Given the description of an element on the screen output the (x, y) to click on. 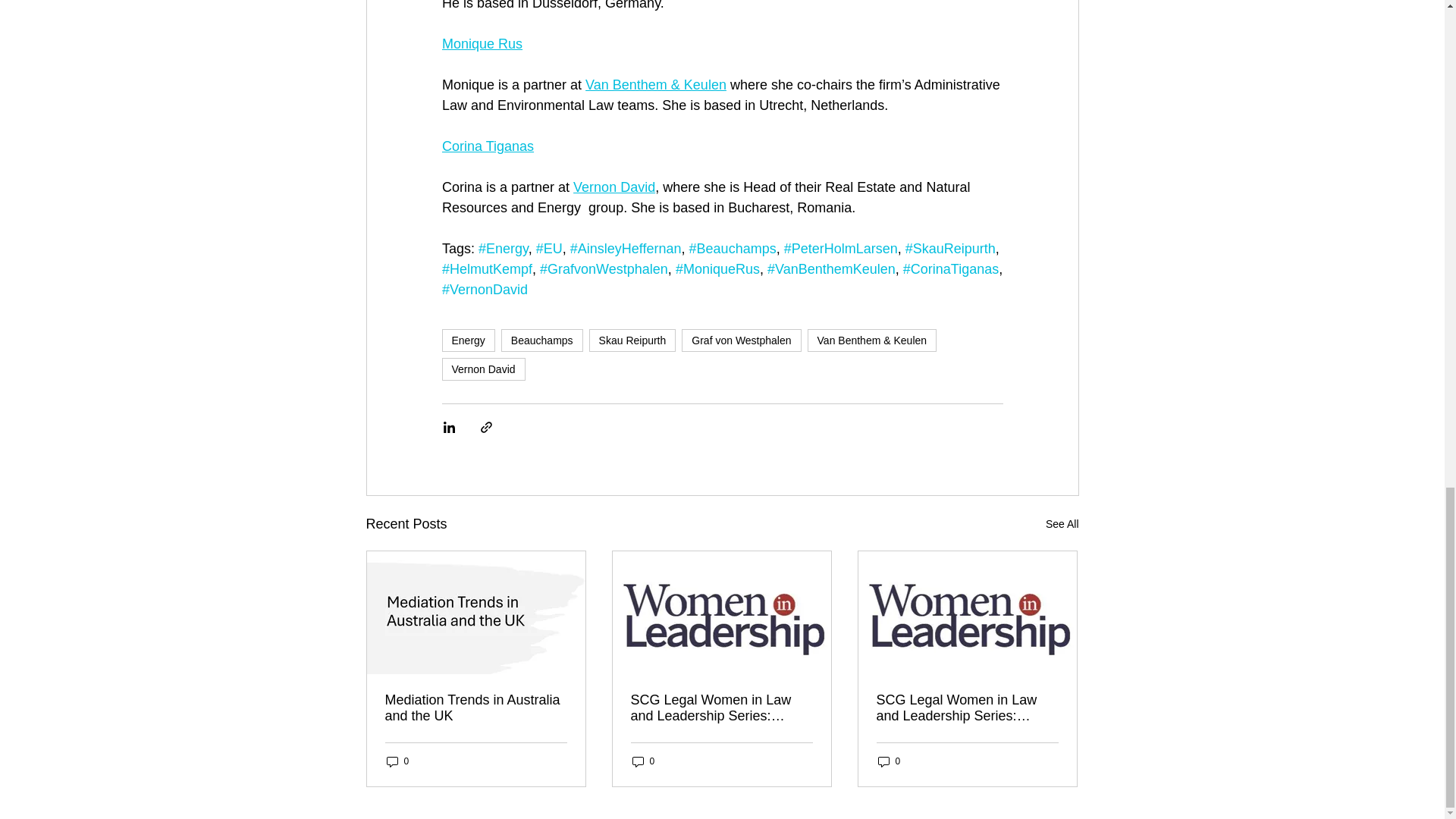
0 (397, 761)
Mediation Trends in Australia and the UK (476, 707)
See All (1061, 524)
Vernon David (482, 368)
Graf von Westphalen (740, 340)
Beauchamps (541, 340)
Monique Rus (481, 43)
Skau Reipurth (633, 340)
Energy (468, 340)
Vernon David (614, 186)
